Given the description of an element on the screen output the (x, y) to click on. 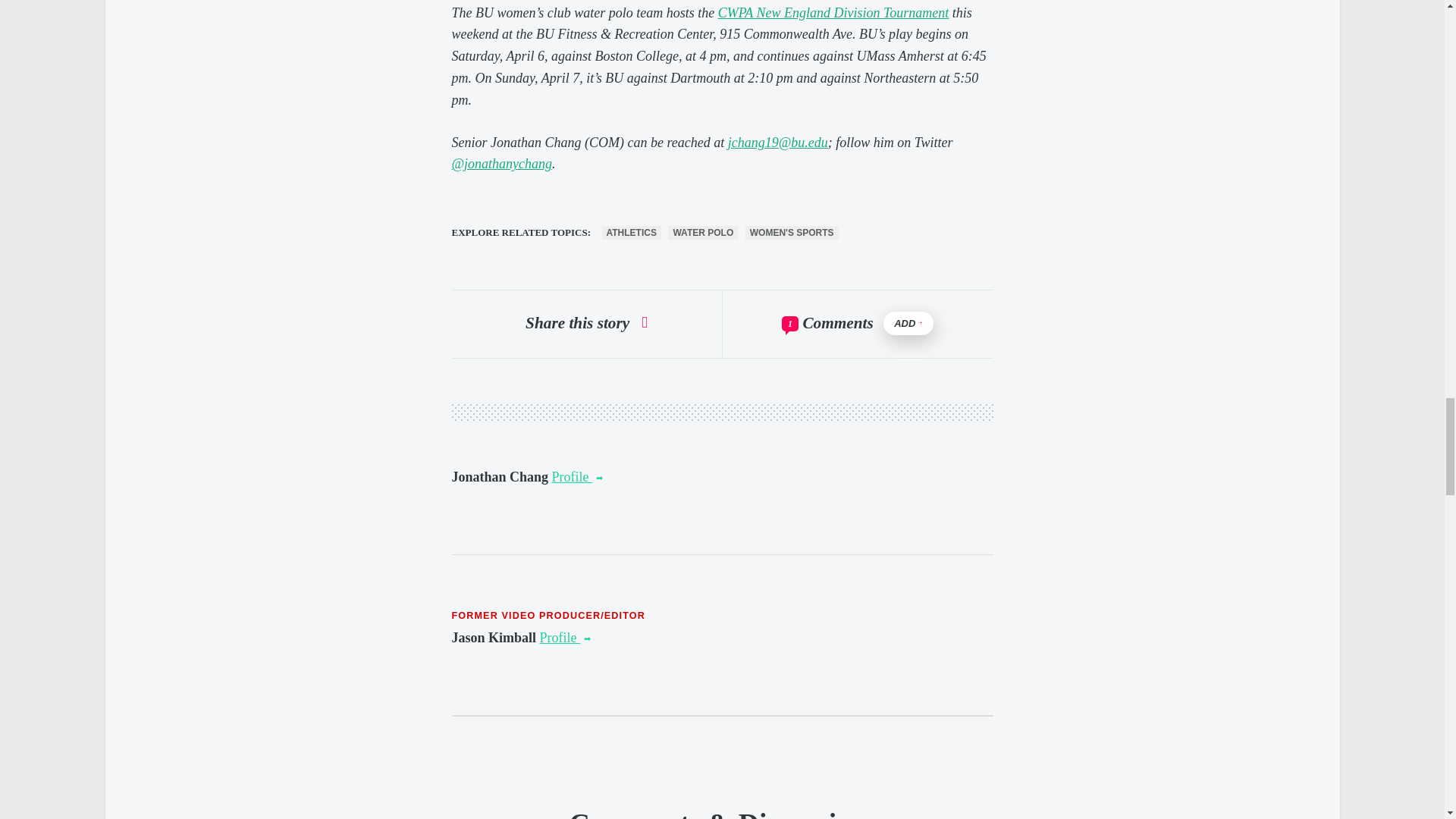
Profile (565, 637)
Profile (577, 476)
ATHLETICS (631, 232)
WOMEN'S SPORTS (791, 232)
ADD (908, 323)
WATER POLO (703, 232)
1 (789, 323)
CWPA New England Division Tournament (833, 12)
